Given the description of an element on the screen output the (x, y) to click on. 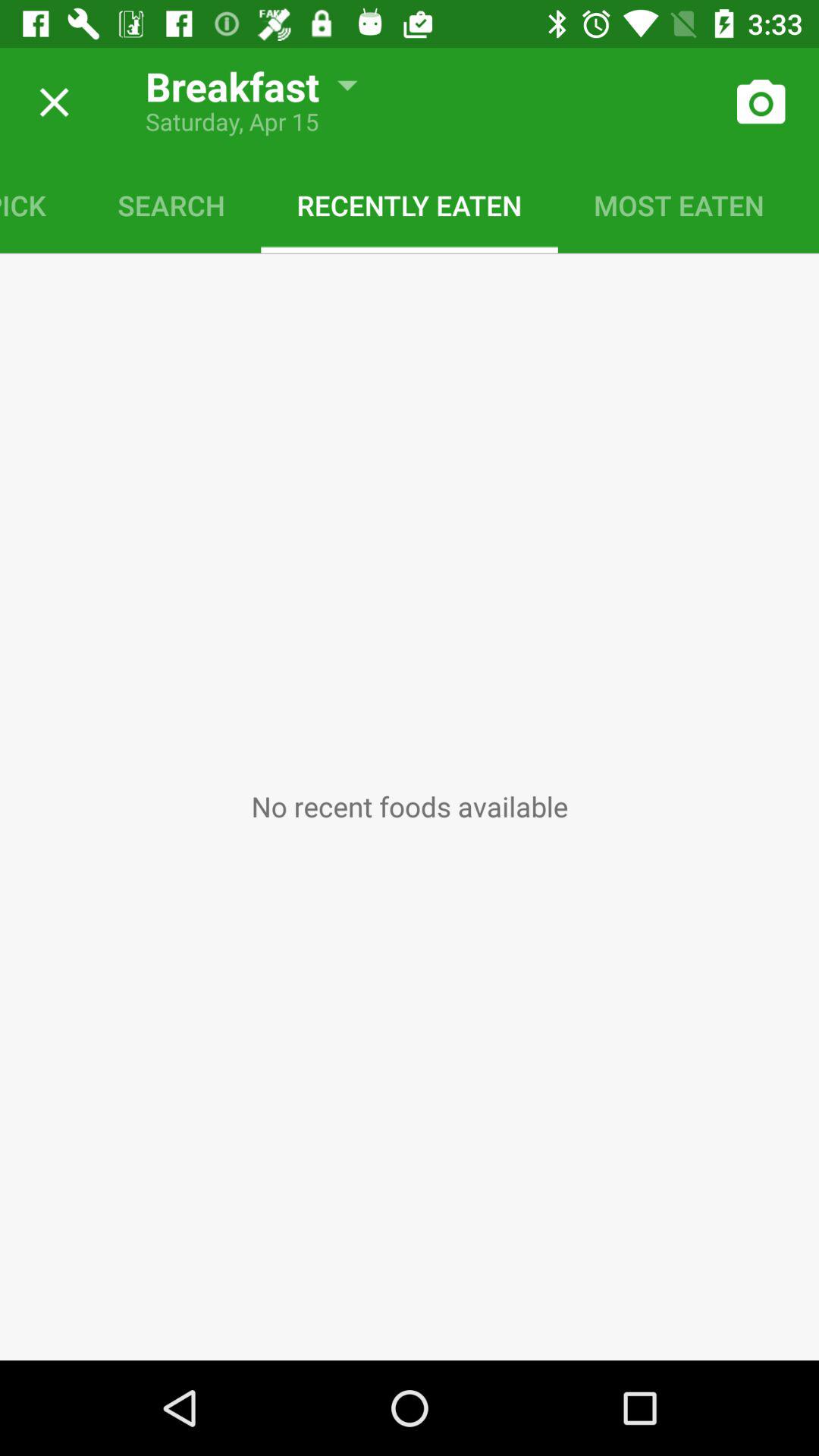
close option (48, 102)
